Given the description of an element on the screen output the (x, y) to click on. 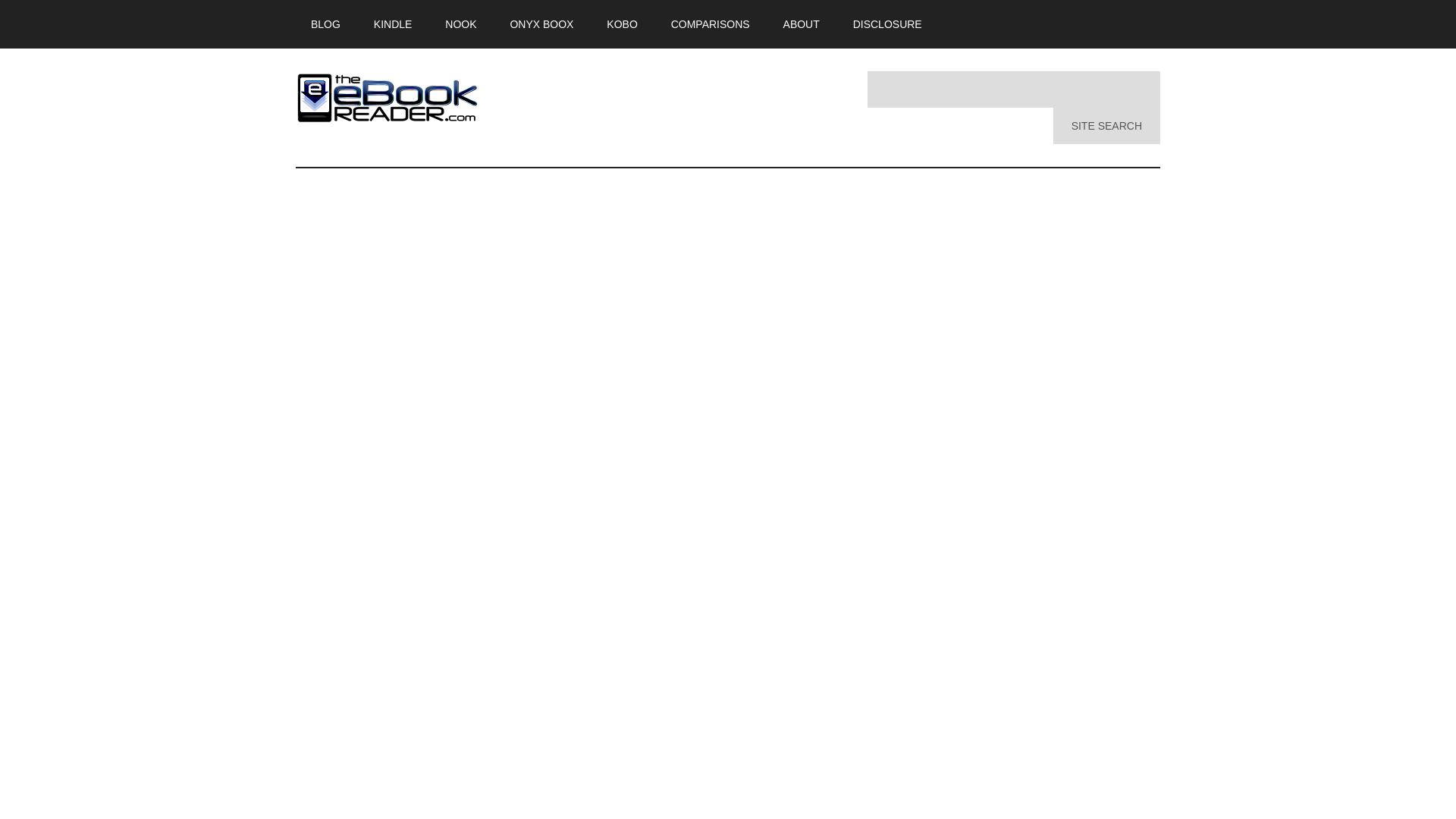
BLOG (325, 24)
KINDLE (393, 24)
DISCLOSURE (887, 24)
ONYX BOOX (541, 24)
COMPARISONS (710, 24)
Site Search (1106, 125)
Site Search (1106, 125)
ABOUT (801, 24)
NOOK (460, 24)
